Given the description of an element on the screen output the (x, y) to click on. 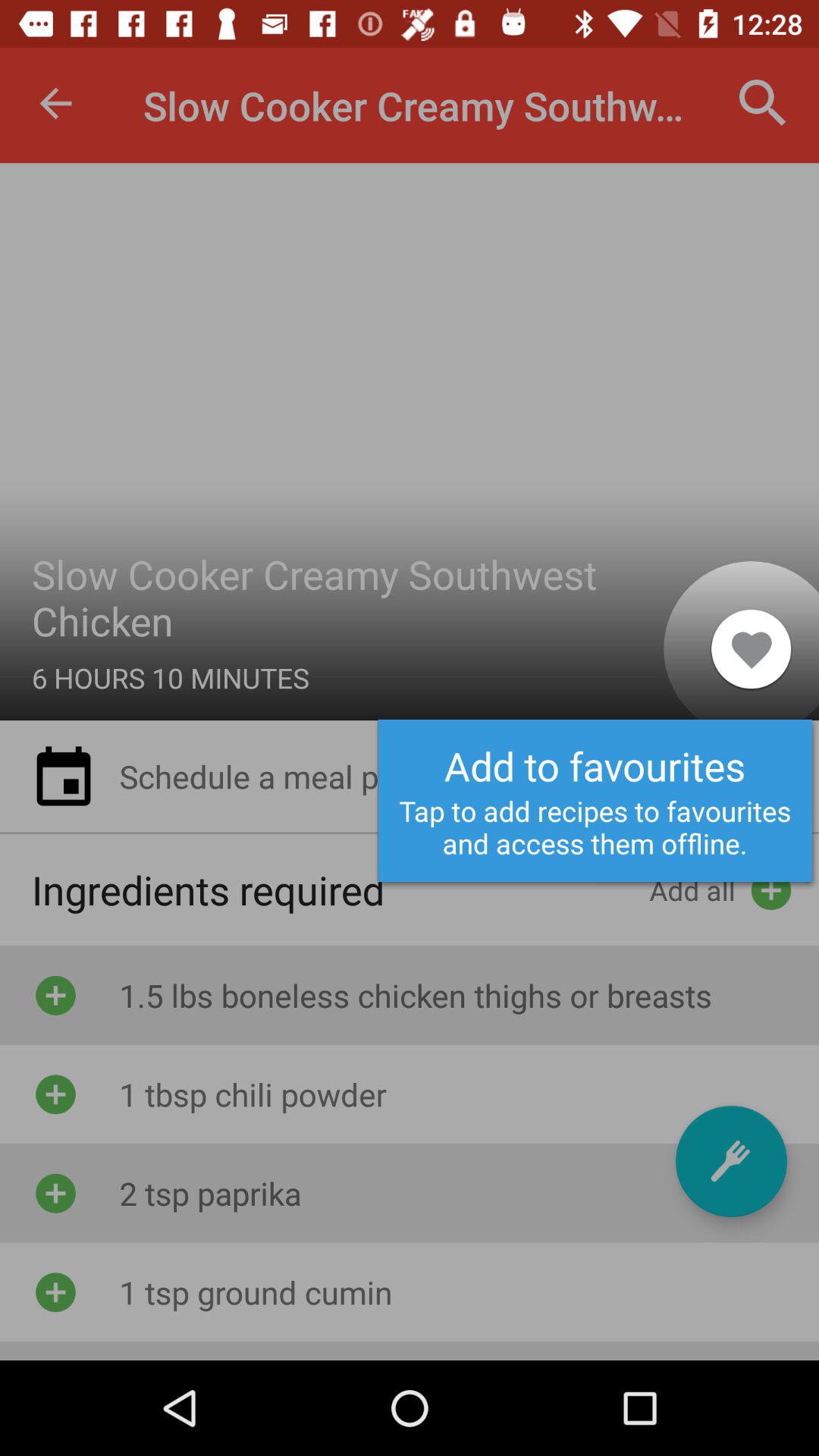
select the icon above the 1 tsp ground item (731, 1161)
